Given the description of an element on the screen output the (x, y) to click on. 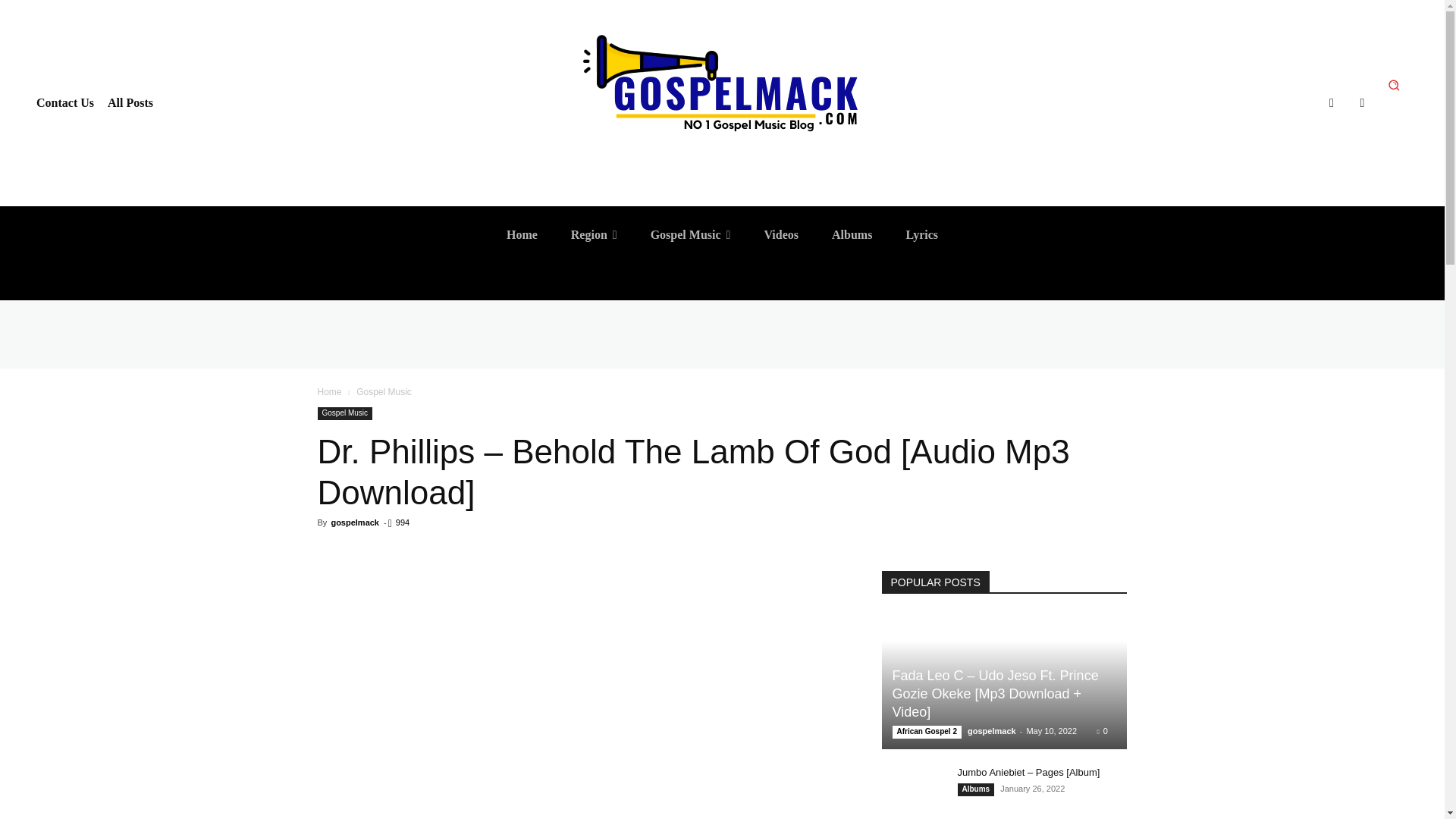
All Posts (129, 102)
Twitter (1362, 102)
Home (522, 234)
Contact Us (65, 102)
Facebook (1331, 102)
Region (593, 234)
